Given the description of an element on the screen output the (x, y) to click on. 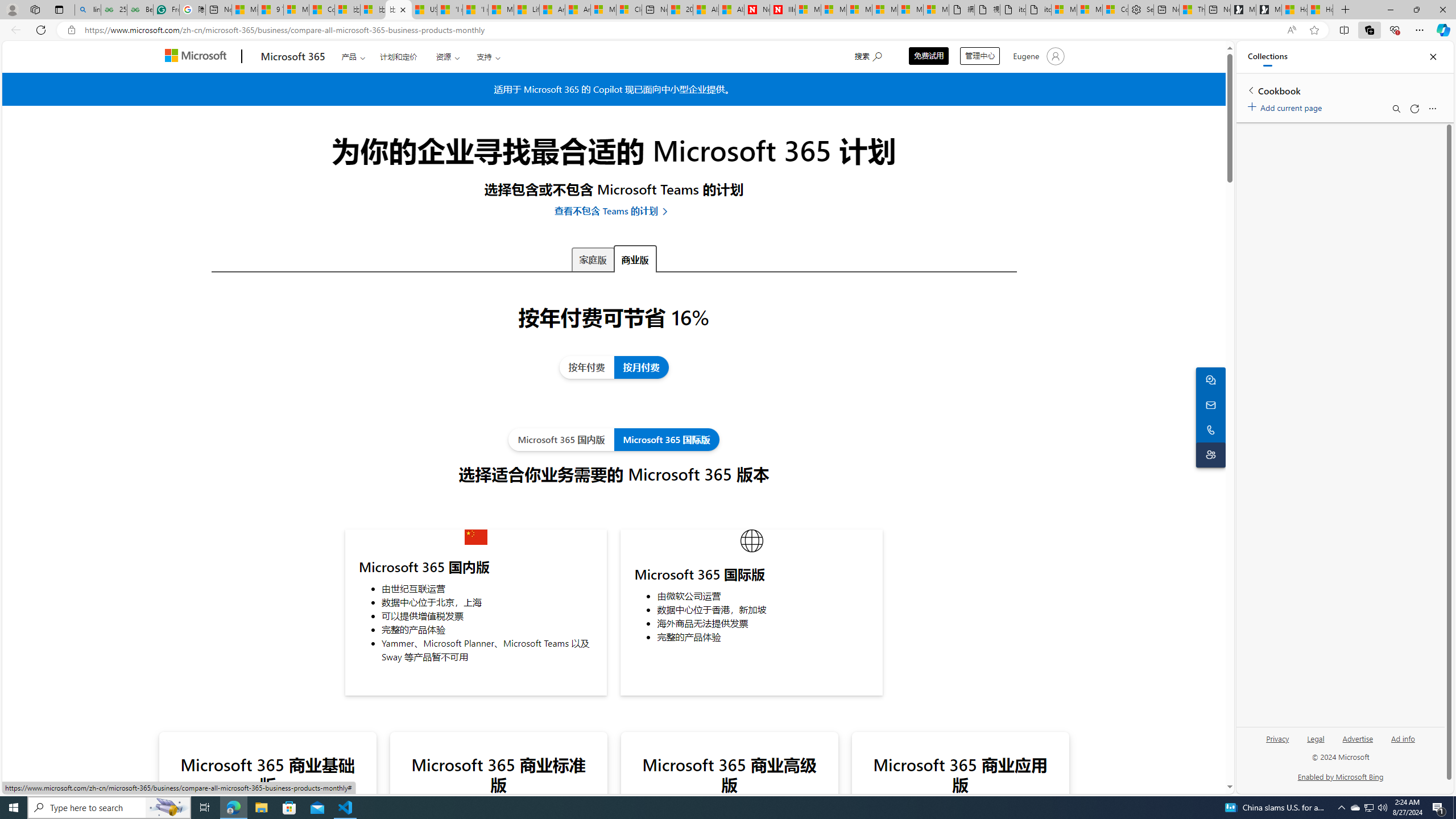
linux basic - Search (87, 9)
Consumer Health Data Privacy Policy (1114, 9)
How to Use a TV as a Computer Monitor (1320, 9)
Back to list of collections (1250, 90)
